Given the description of an element on the screen output the (x, y) to click on. 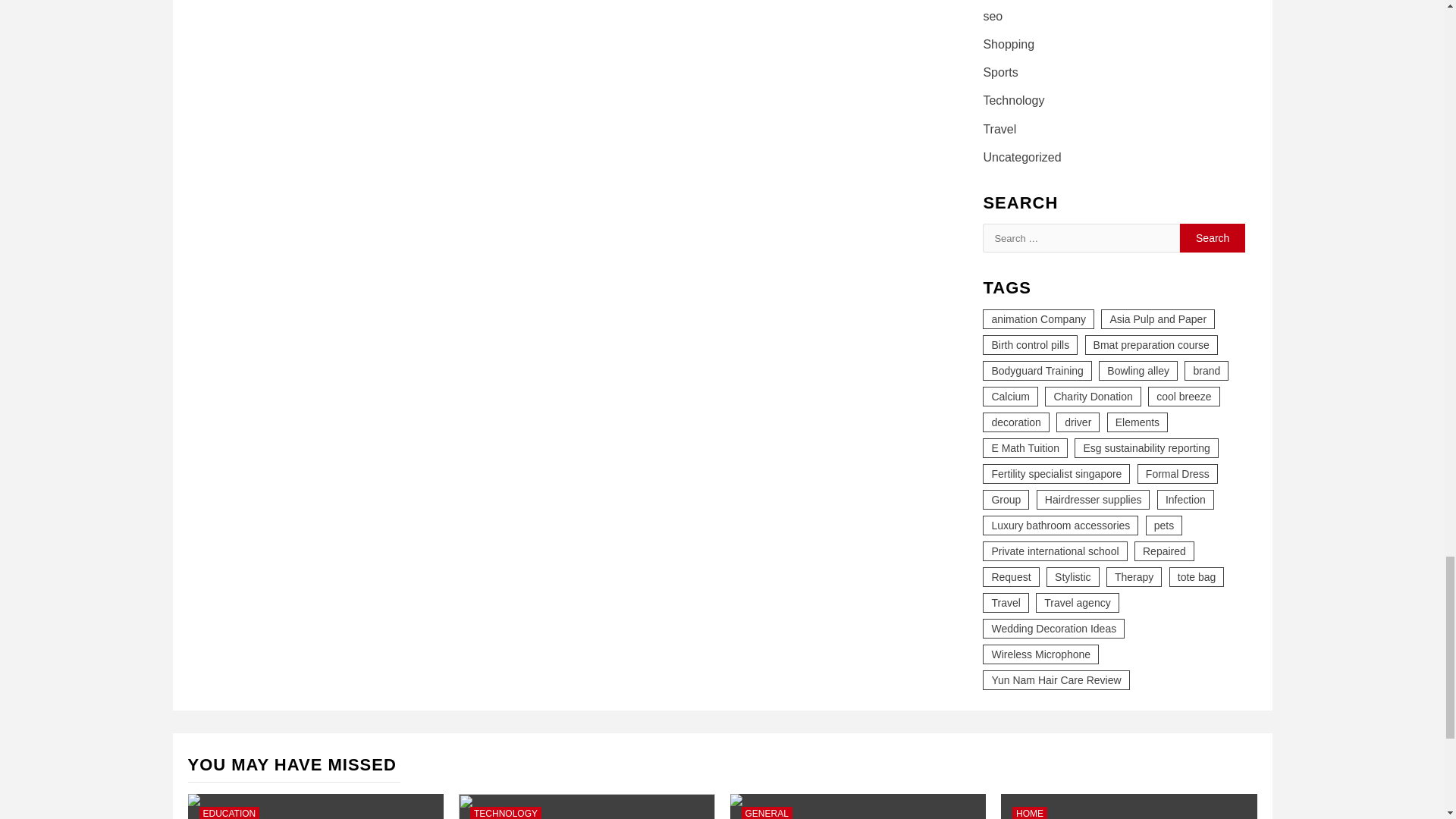
Search (1212, 237)
Search (1212, 237)
